Given the description of an element on the screen output the (x, y) to click on. 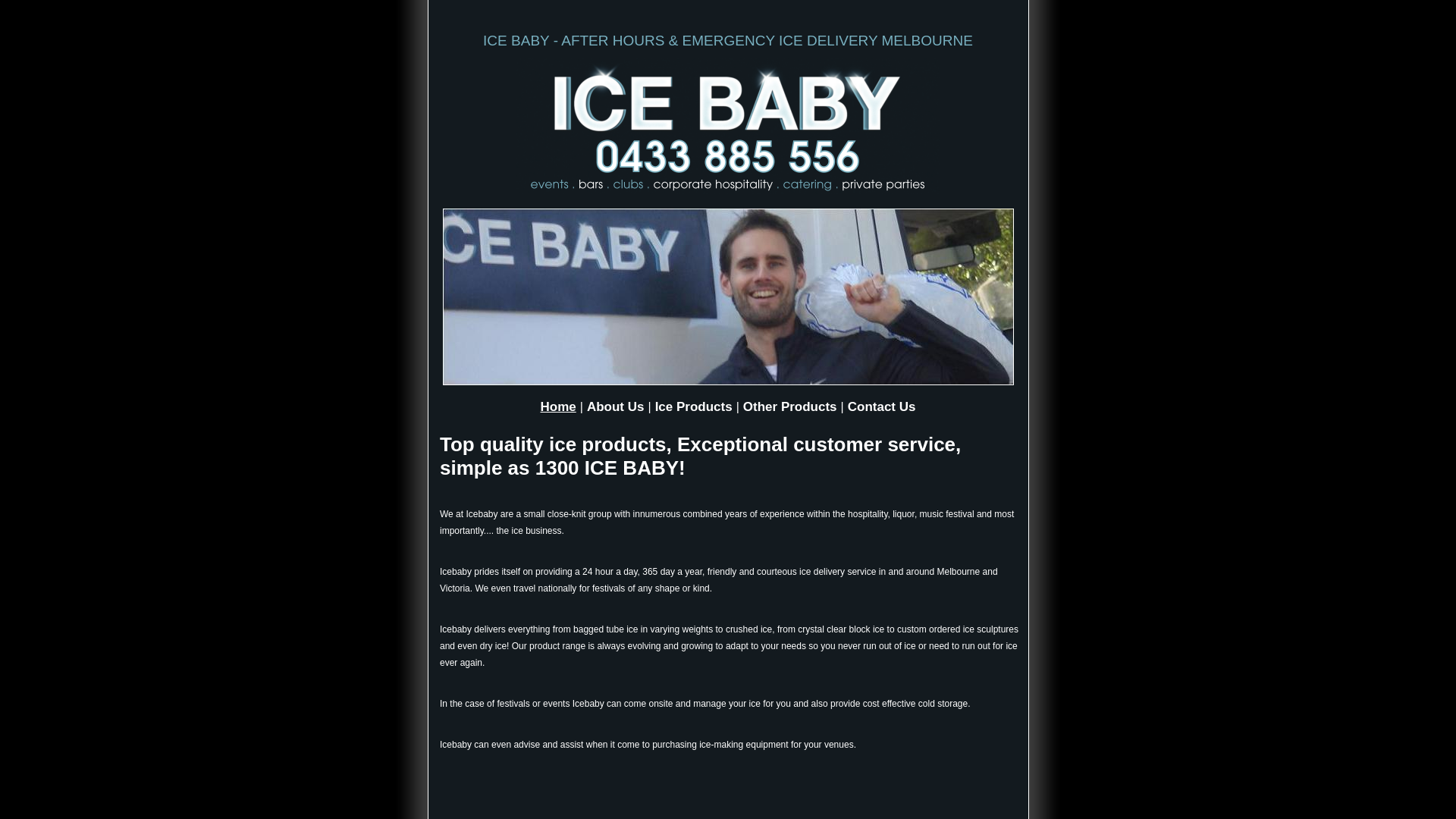
Other Products Element type: text (789, 406)
About Us Element type: text (615, 406)
Ice Products Element type: text (693, 406)
Contact Us Element type: text (881, 406)
Home Element type: text (558, 406)
